Given the description of an element on the screen output the (x, y) to click on. 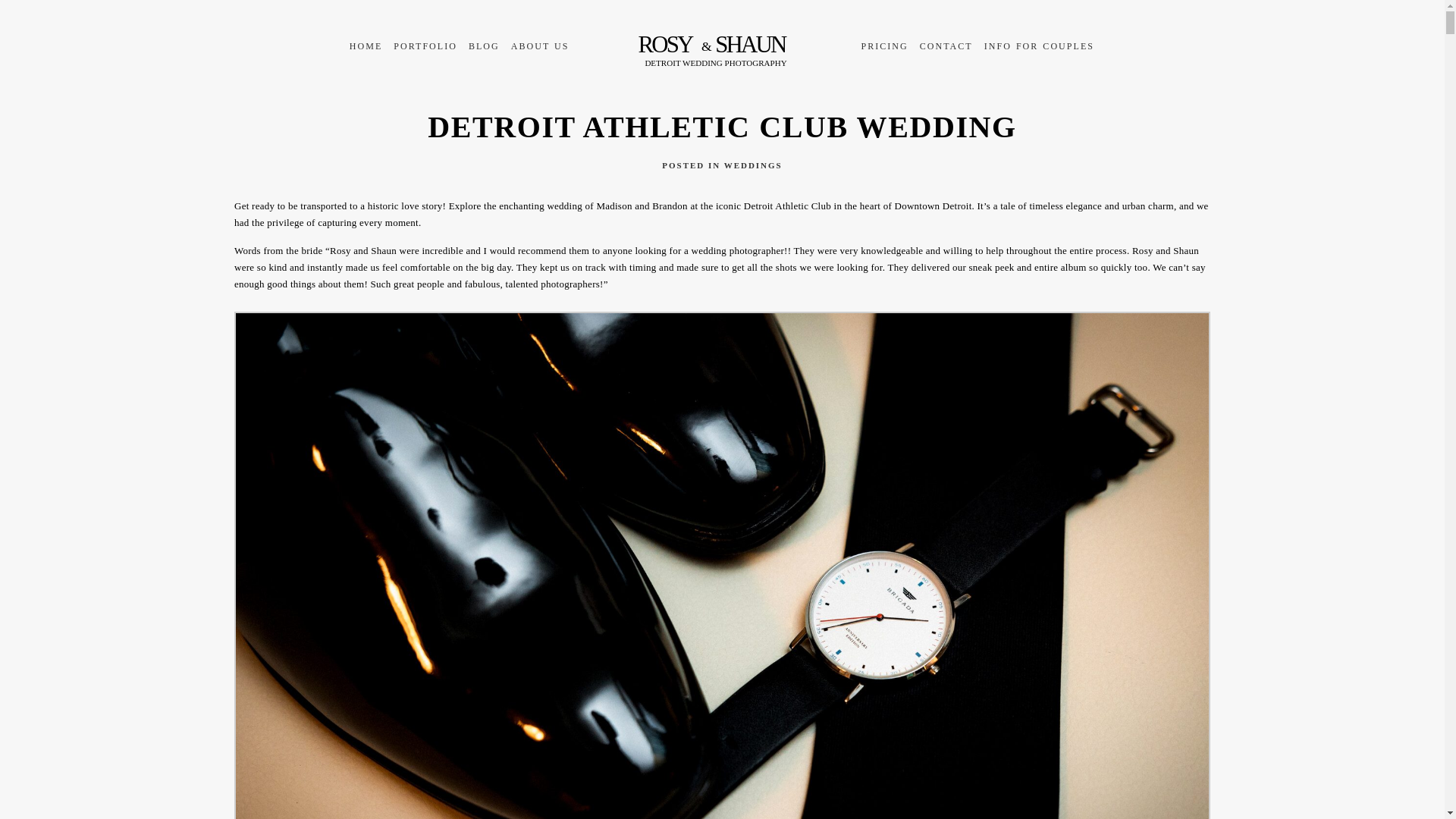
WEDDINGS (753, 164)
PRICING (883, 45)
BLOG (483, 45)
ABOUT US (540, 45)
PORTFOLIO (425, 45)
INFO FOR COUPLES (1039, 45)
CONTACT (946, 45)
HOME (365, 45)
